Given the description of an element on the screen output the (x, y) to click on. 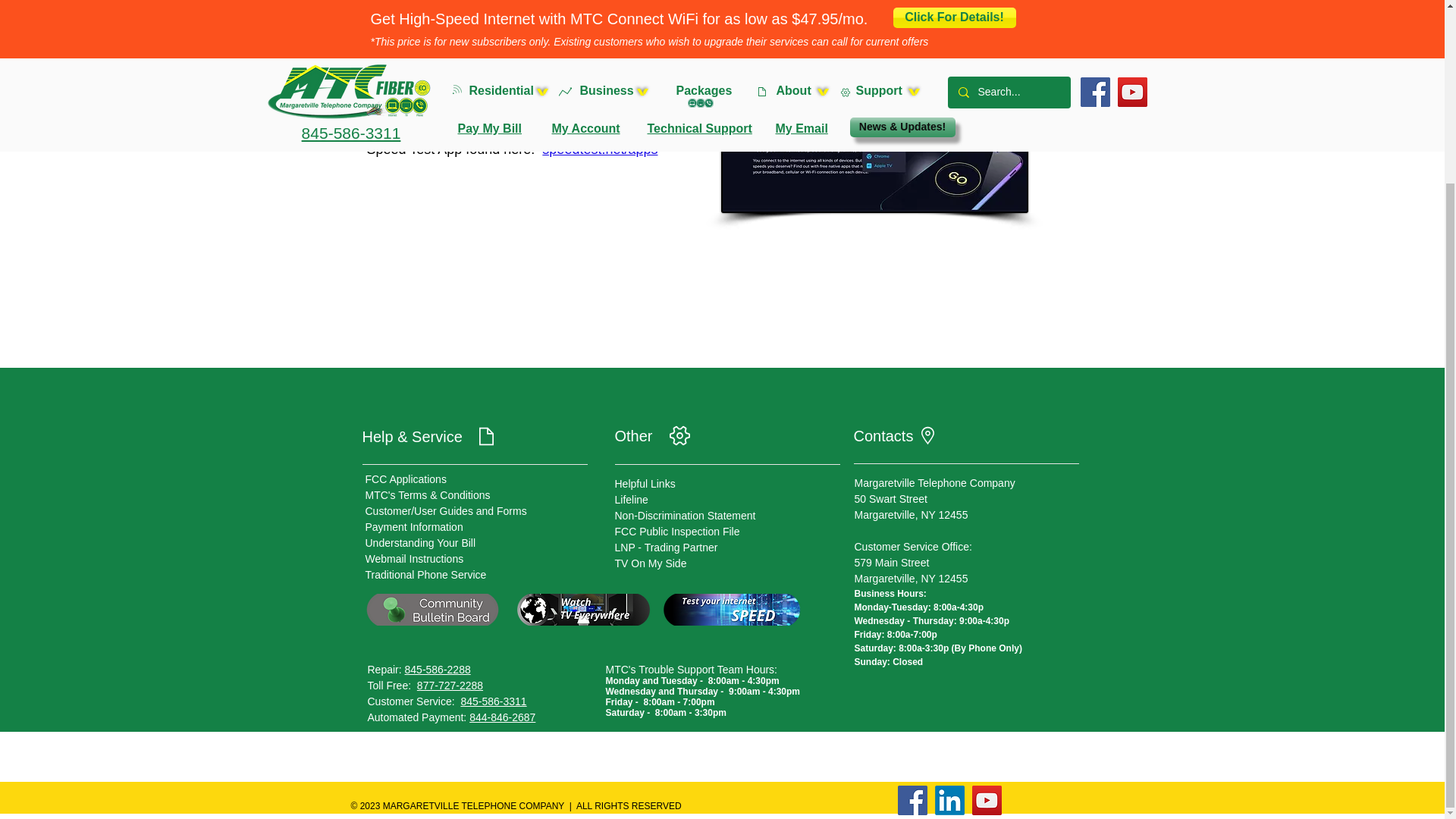
Understanding Your Bill (420, 542)
itions (477, 494)
Payment Information (414, 526)
Traditional Phone Service (425, 574)
FCC Applications (405, 479)
Webmail Instructions (414, 558)
